Given the description of an element on the screen output the (x, y) to click on. 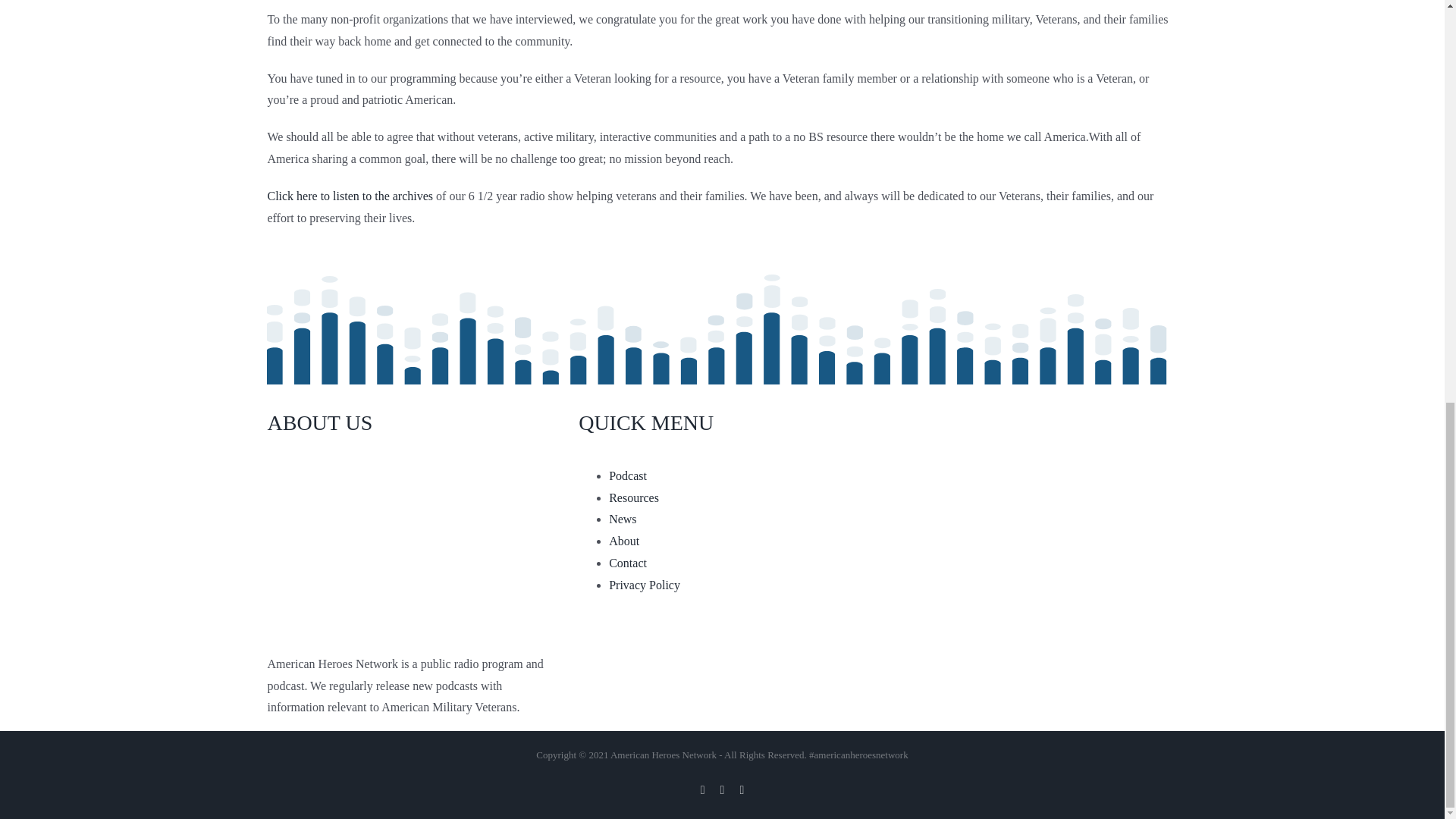
About (623, 540)
Resources (633, 497)
Contact (627, 562)
Podcast (627, 475)
Click here to listen to the archives (349, 195)
Privacy Policy (643, 584)
News (622, 518)
